Given the description of an element on the screen output the (x, y) to click on. 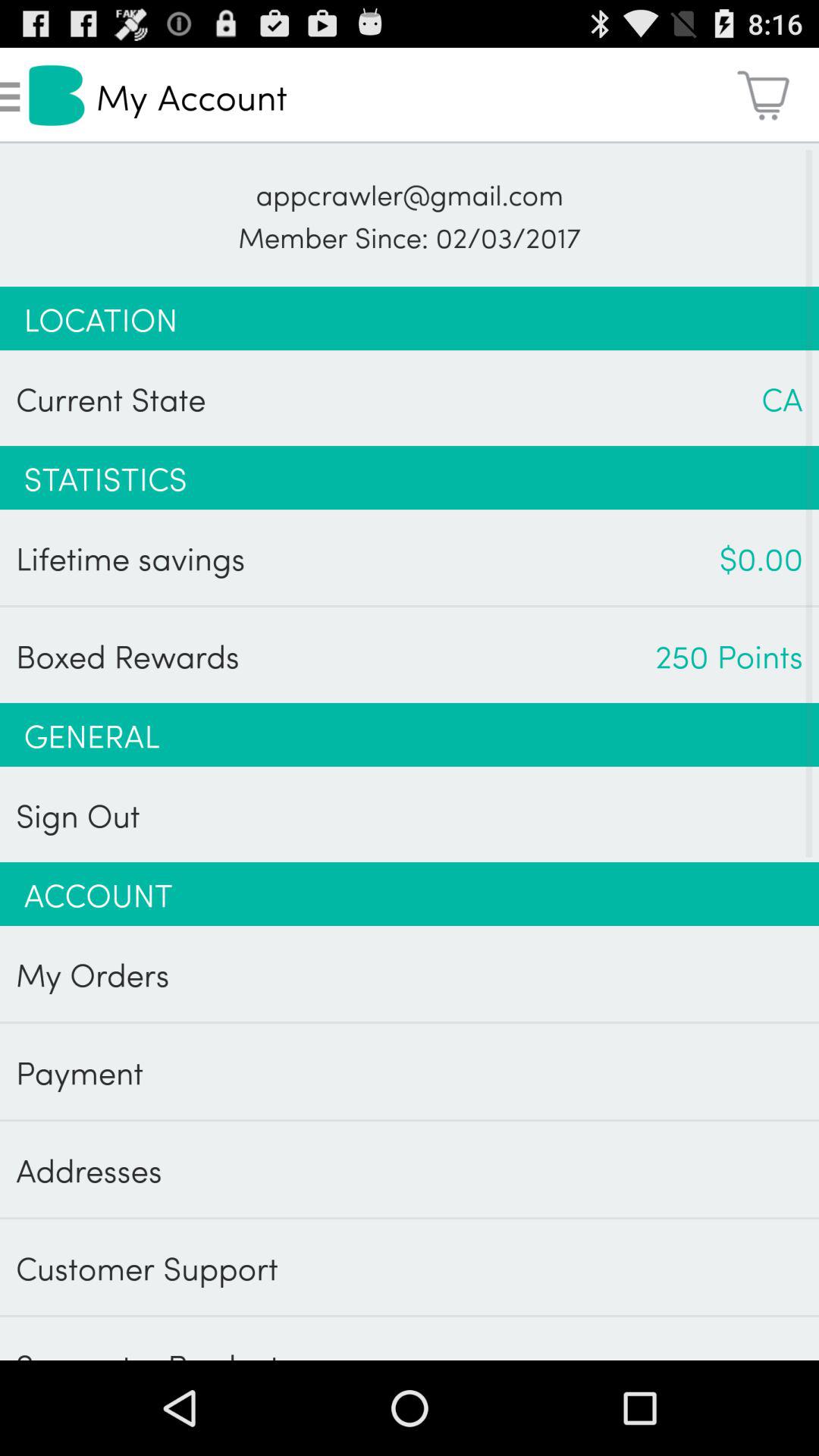
scroll to the statistics item (409, 477)
